Given the description of an element on the screen output the (x, y) to click on. 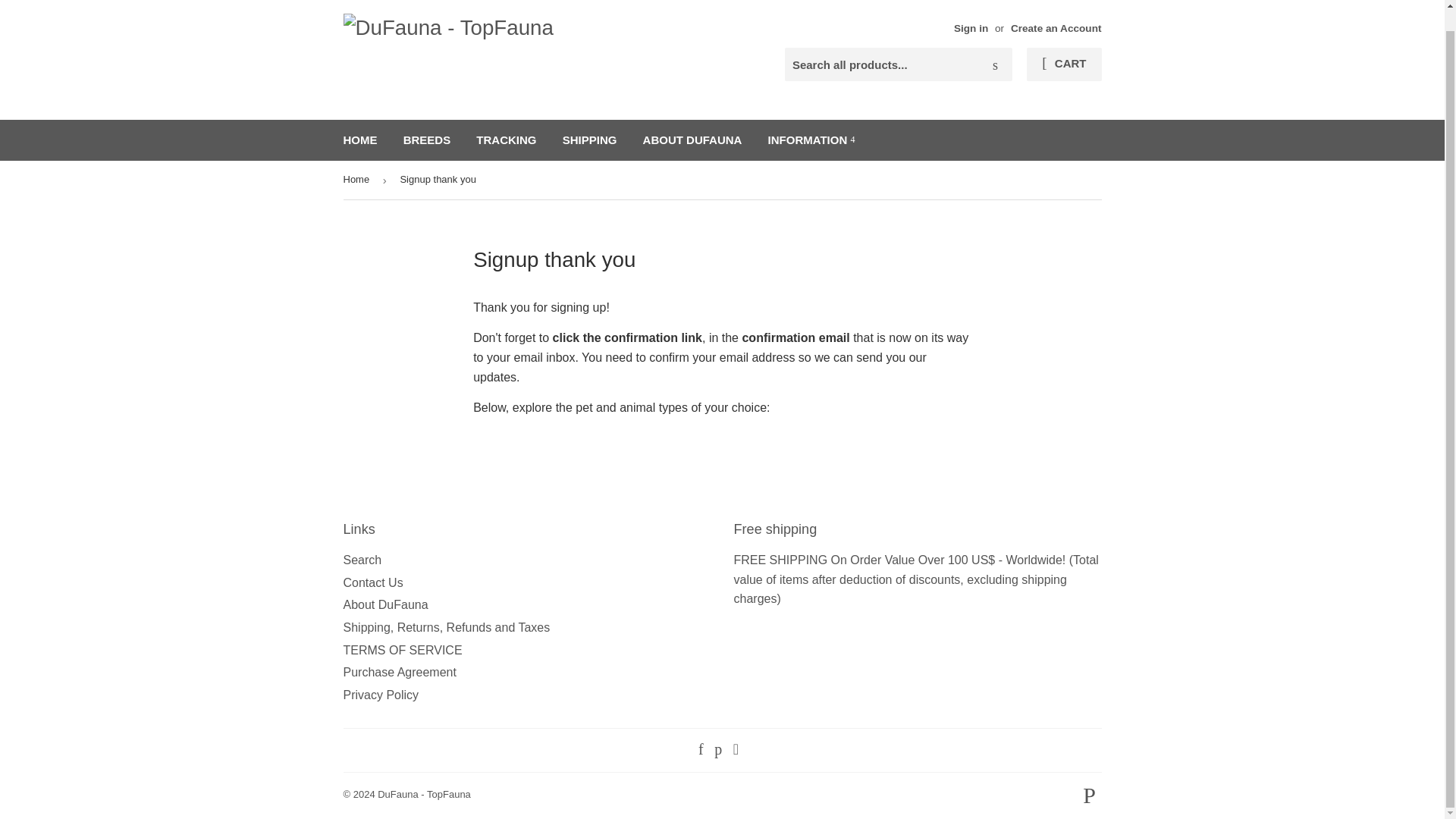
CART (1063, 64)
Sign in (970, 28)
Search (994, 65)
INFORMATION (811, 139)
SHIPPING (589, 139)
Search (361, 559)
About DuFauna (385, 604)
Purchase Agreement (398, 671)
Contact Us (372, 582)
TERMS OF SERVICE (401, 649)
Create an Account (1056, 28)
TRACKING (505, 139)
BREEDS (427, 139)
ABOUT DUFAUNA (692, 139)
Shipping, Returns, Refunds and Taxes (446, 626)
